Given the description of an element on the screen output the (x, y) to click on. 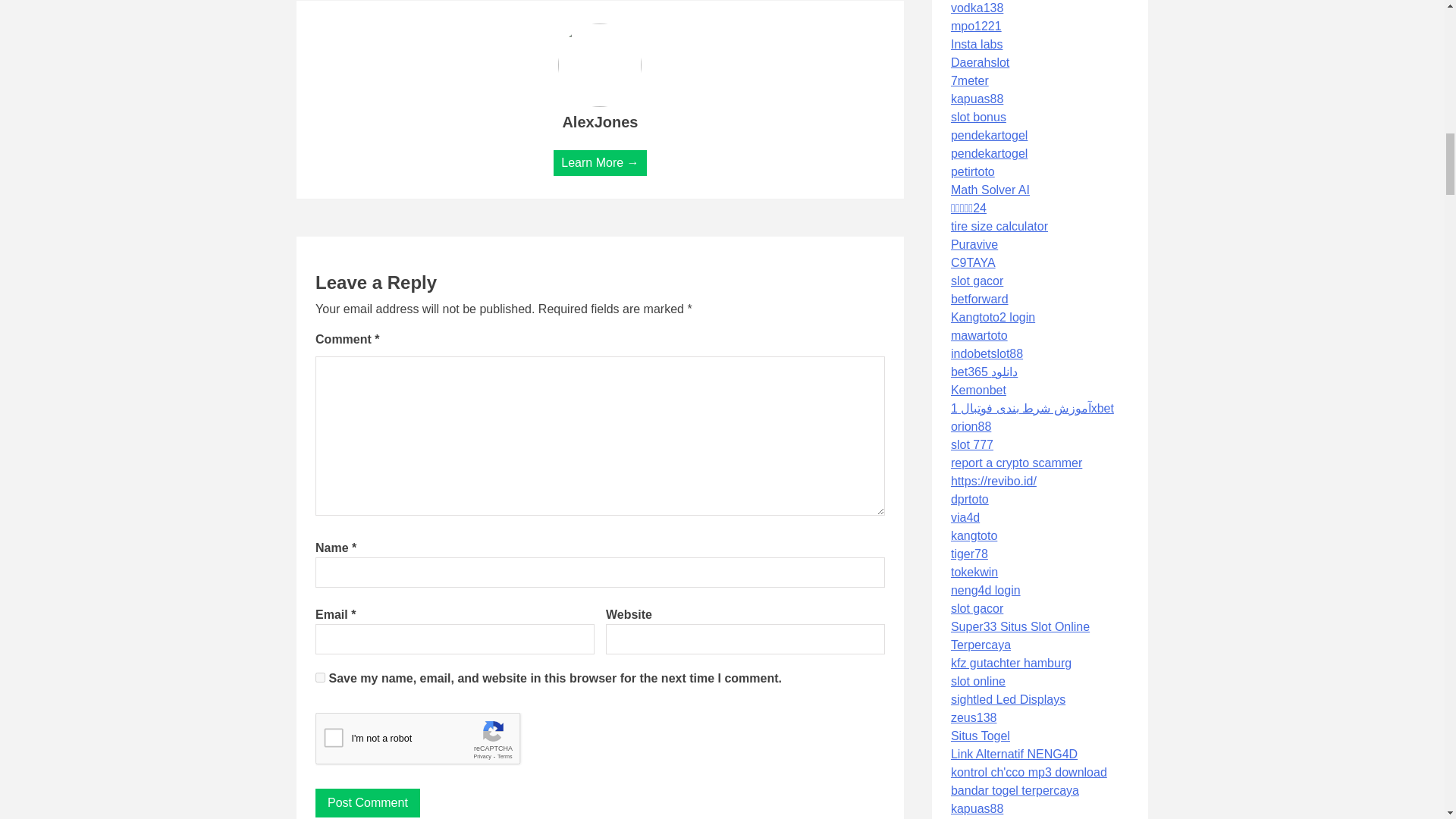
Post Comment (367, 802)
yes (319, 677)
Post Comment (367, 802)
reCAPTCHA (430, 742)
